Given the description of an element on the screen output the (x, y) to click on. 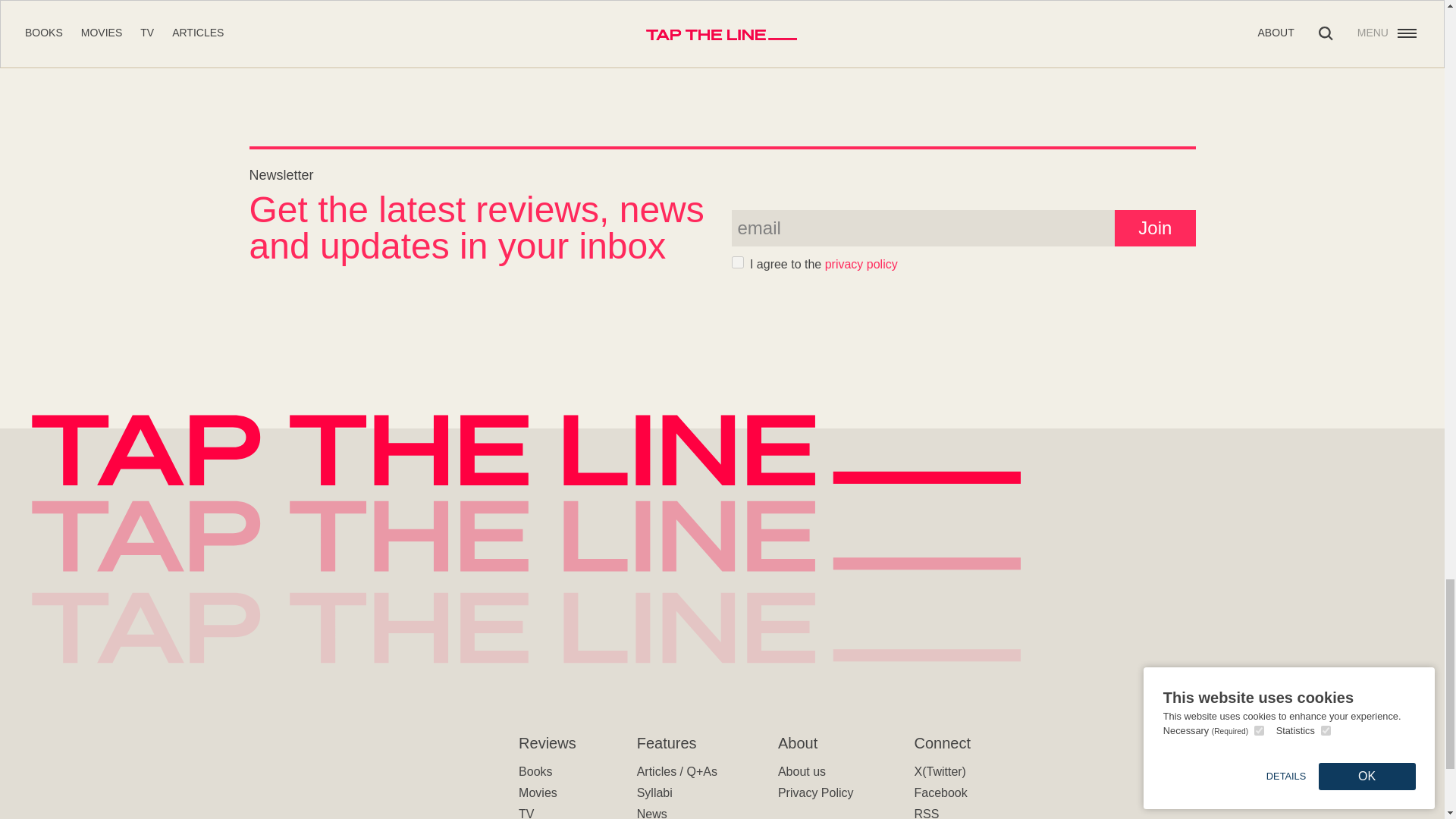
Join (1155, 227)
on (736, 262)
